Given the description of an element on the screen output the (x, y) to click on. 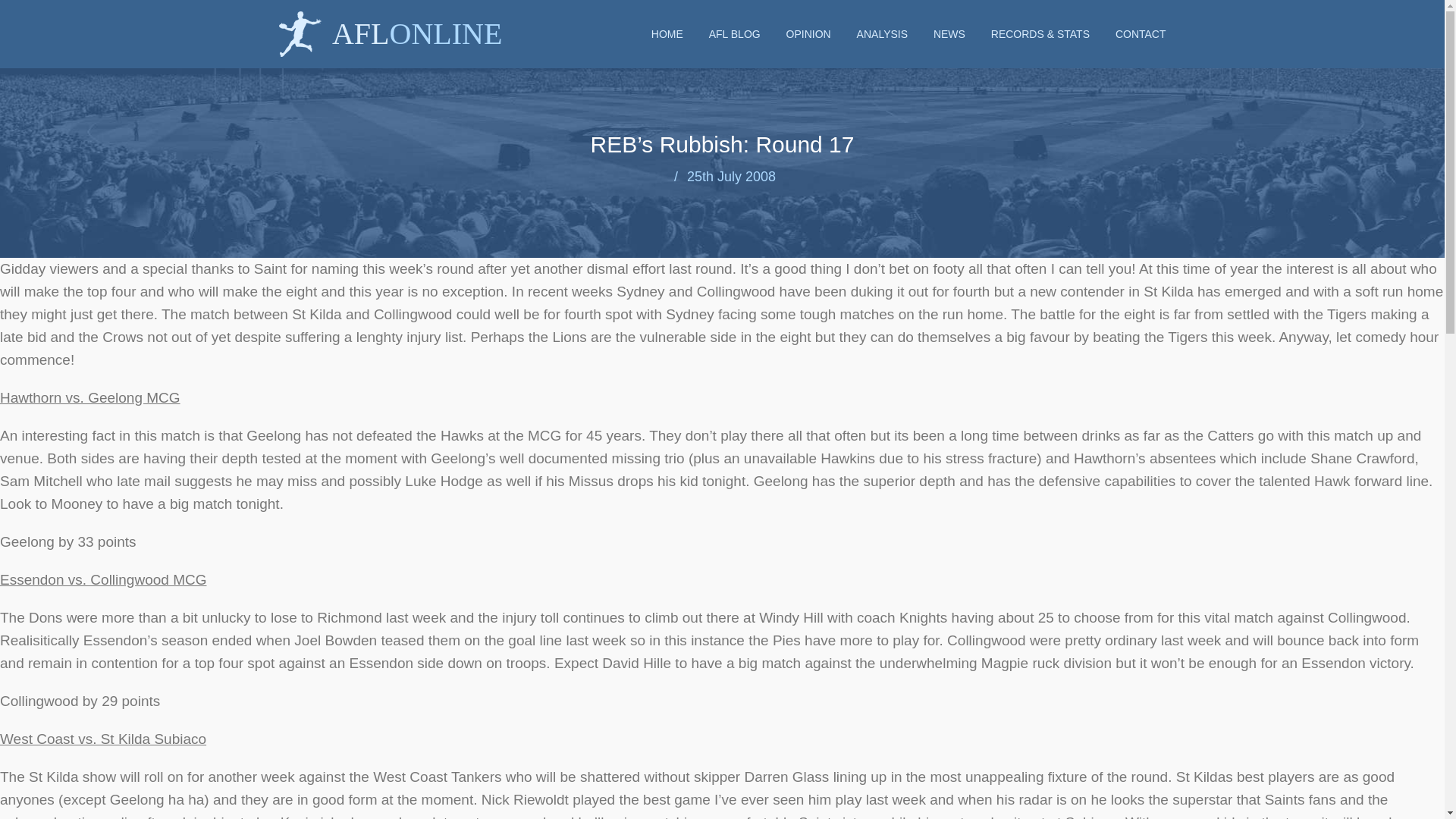
AFL BLOG (734, 33)
CONTACT (1140, 33)
HOME (666, 33)
ANALYSIS (882, 33)
OPINION (808, 33)
NEWS (949, 33)
AFLONLINE (390, 19)
